Given the description of an element on the screen output the (x, y) to click on. 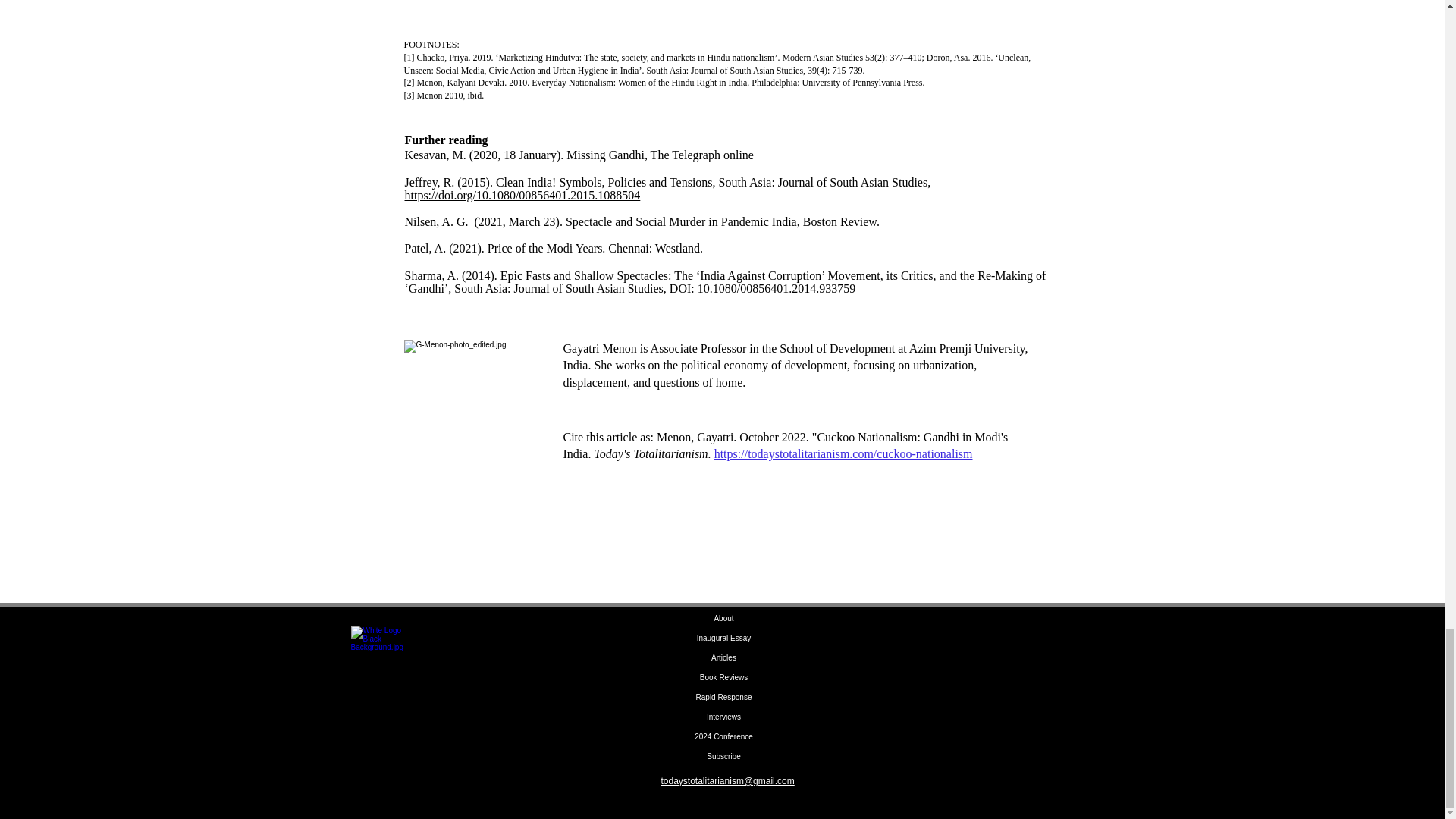
Rapid Response (723, 697)
Articles (723, 658)
About (723, 618)
2024 Conference (723, 736)
Book Reviews (723, 677)
Inaugural Essay (723, 638)
Subscribe (723, 756)
Interviews (723, 717)
